Given the description of an element on the screen output the (x, y) to click on. 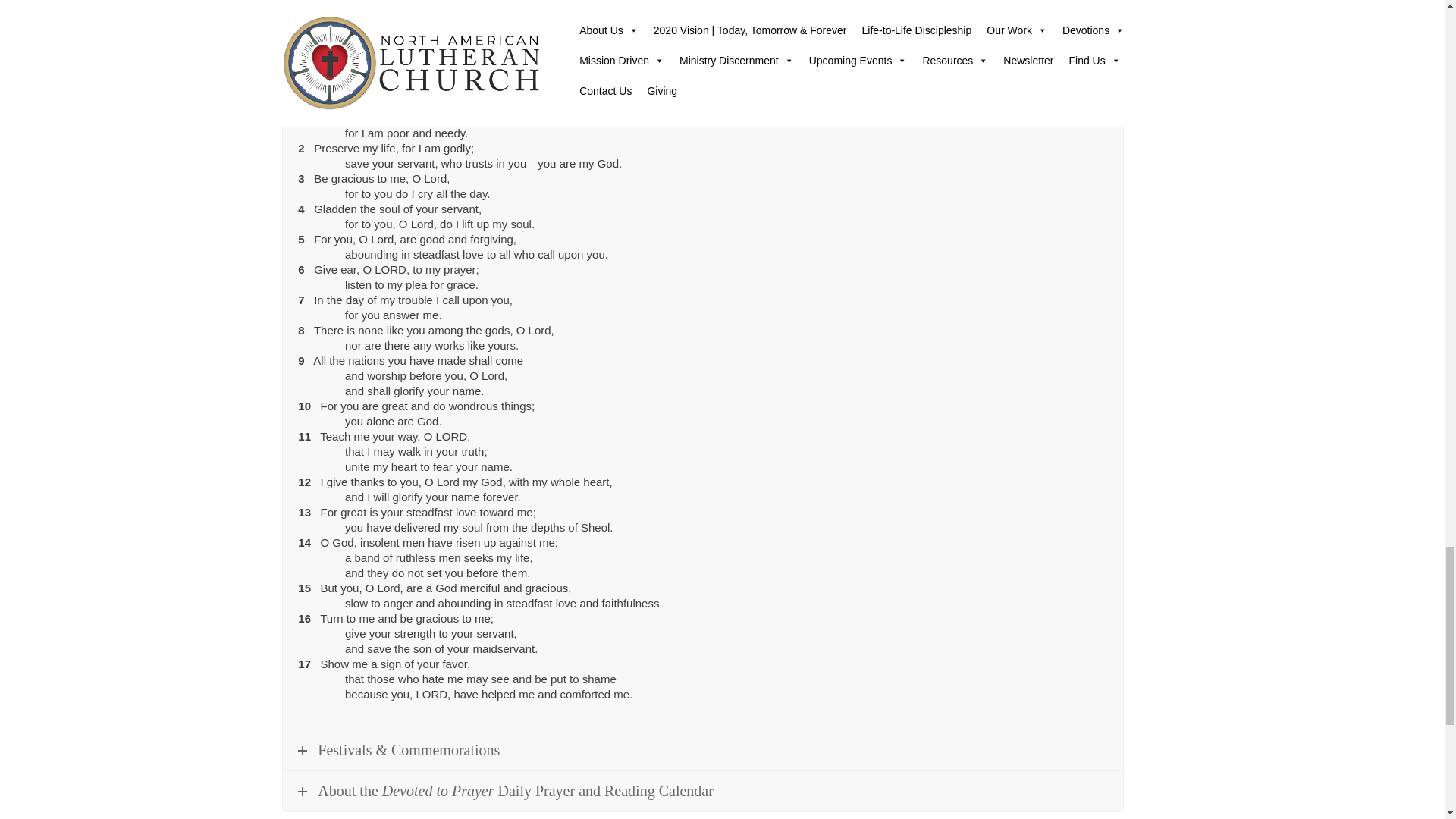
Psalm 86 (386, 64)
